Given the description of an element on the screen output the (x, y) to click on. 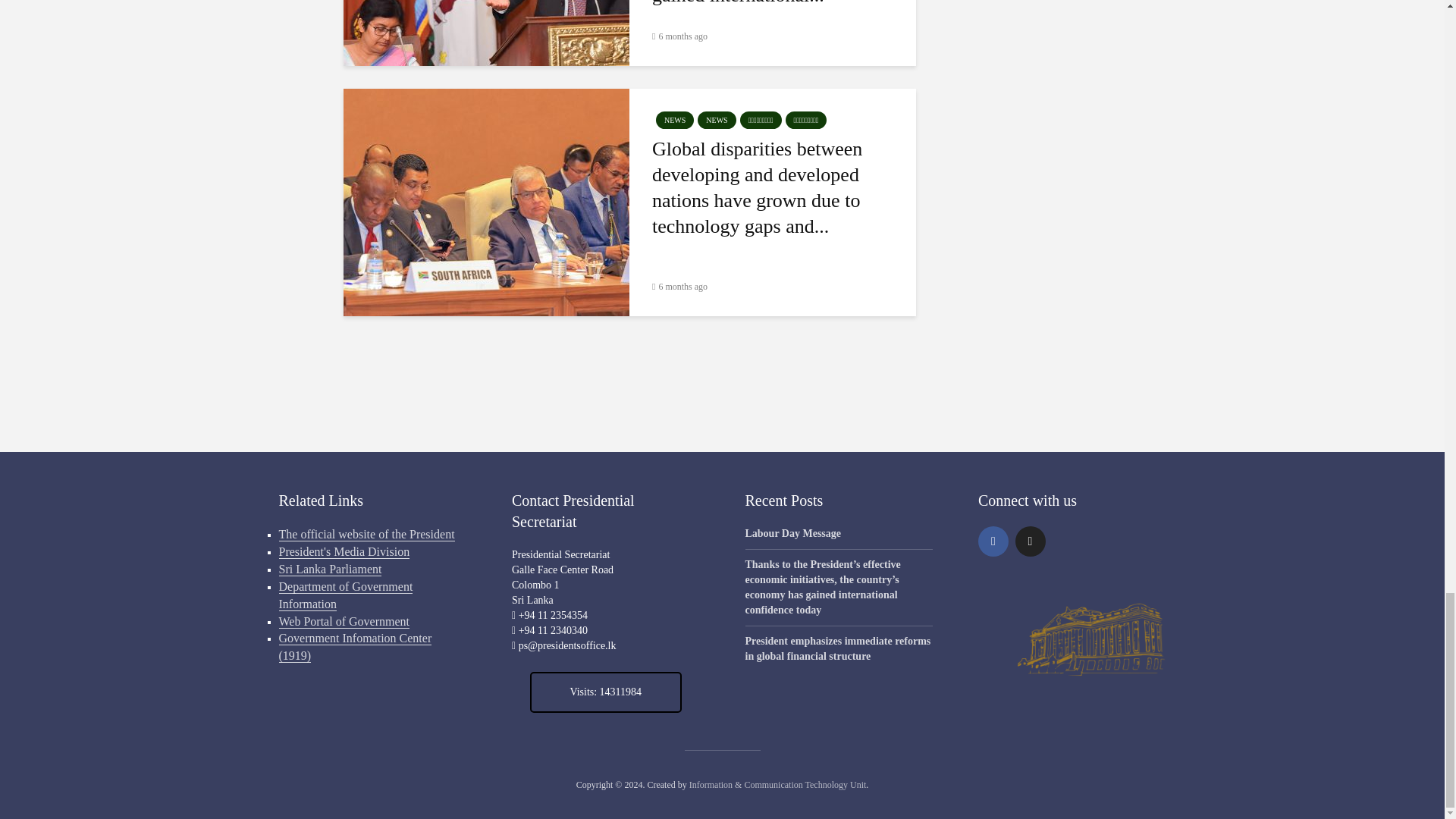
Facebook (993, 541)
